Given the description of an element on the screen output the (x, y) to click on. 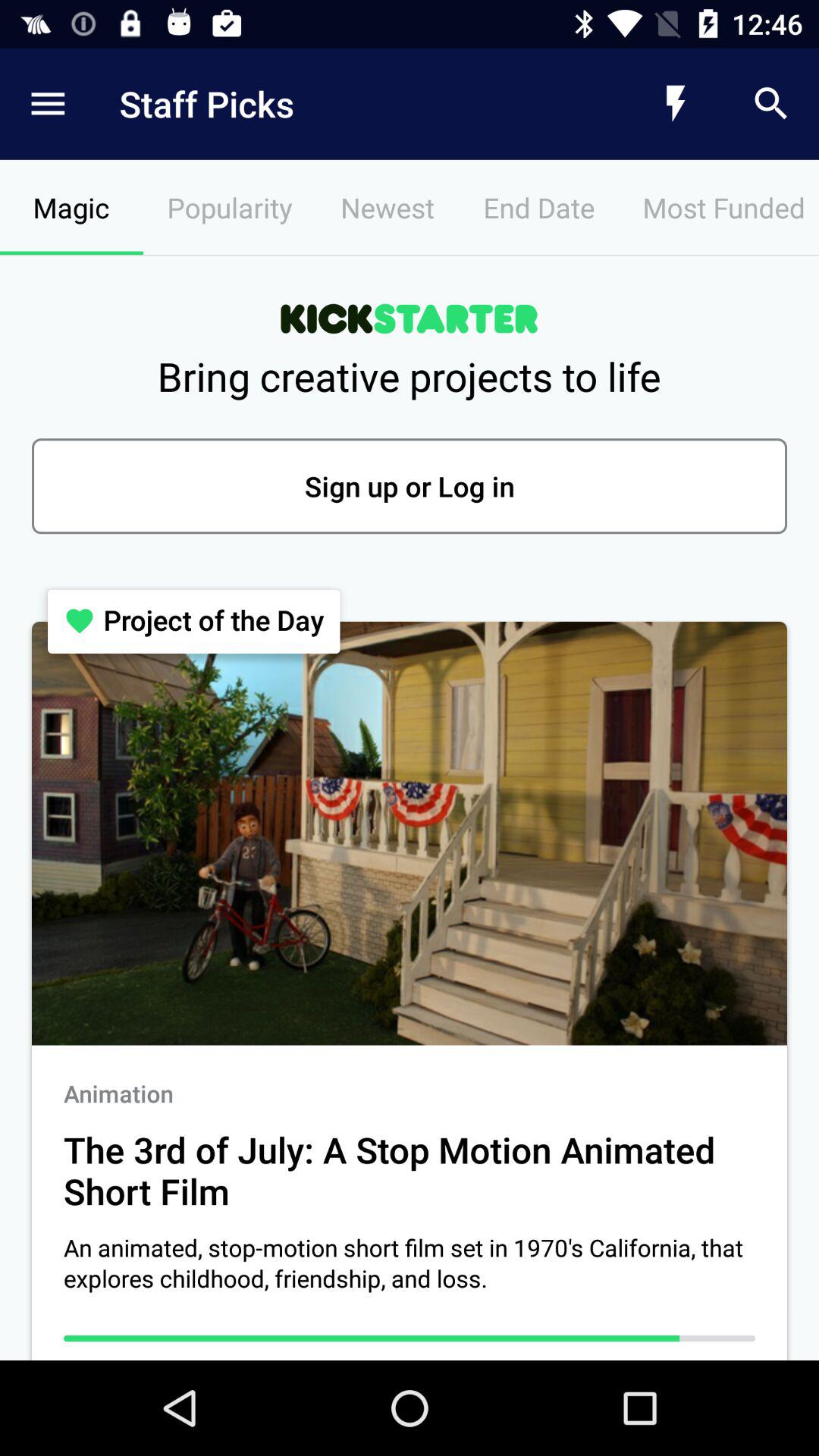
flip until the staff picks item (345, 103)
